Given the description of an element on the screen output the (x, y) to click on. 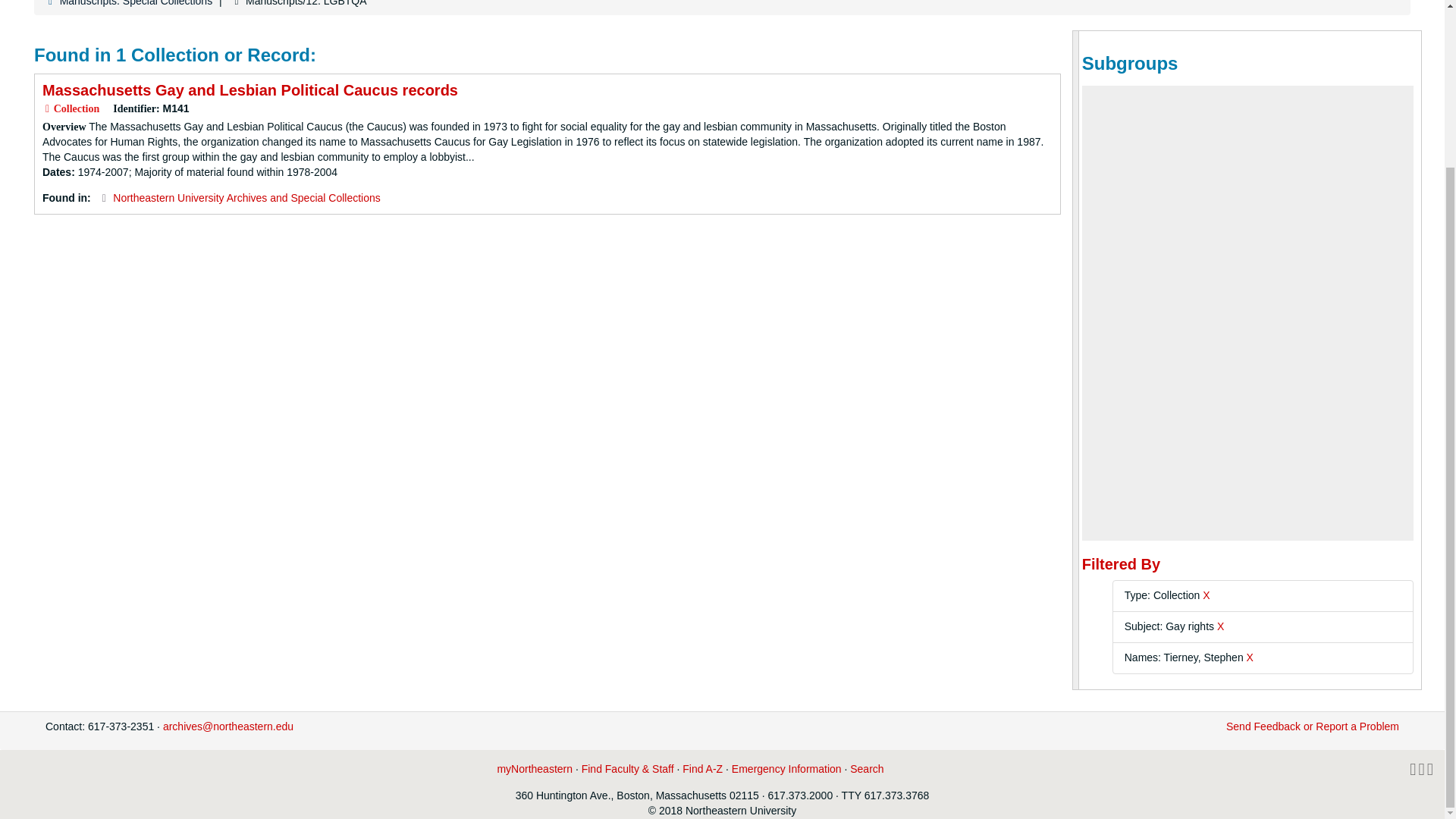
Massachusetts Gay and Lesbian Political Caucus records (250, 89)
Search (866, 768)
Manuscripts. Special Collections (135, 3)
myNortheastern (534, 768)
Send Feedback or Report a Problem (1312, 726)
Remove this filter  (1249, 657)
Northeastern University Archives and Special Collections (246, 197)
X (1249, 657)
X (1205, 594)
X (1220, 625)
Remove this filter  (1220, 625)
Find A-Z (702, 768)
Emergency Information (786, 768)
Remove this filter  (1205, 594)
